Given the description of an element on the screen output the (x, y) to click on. 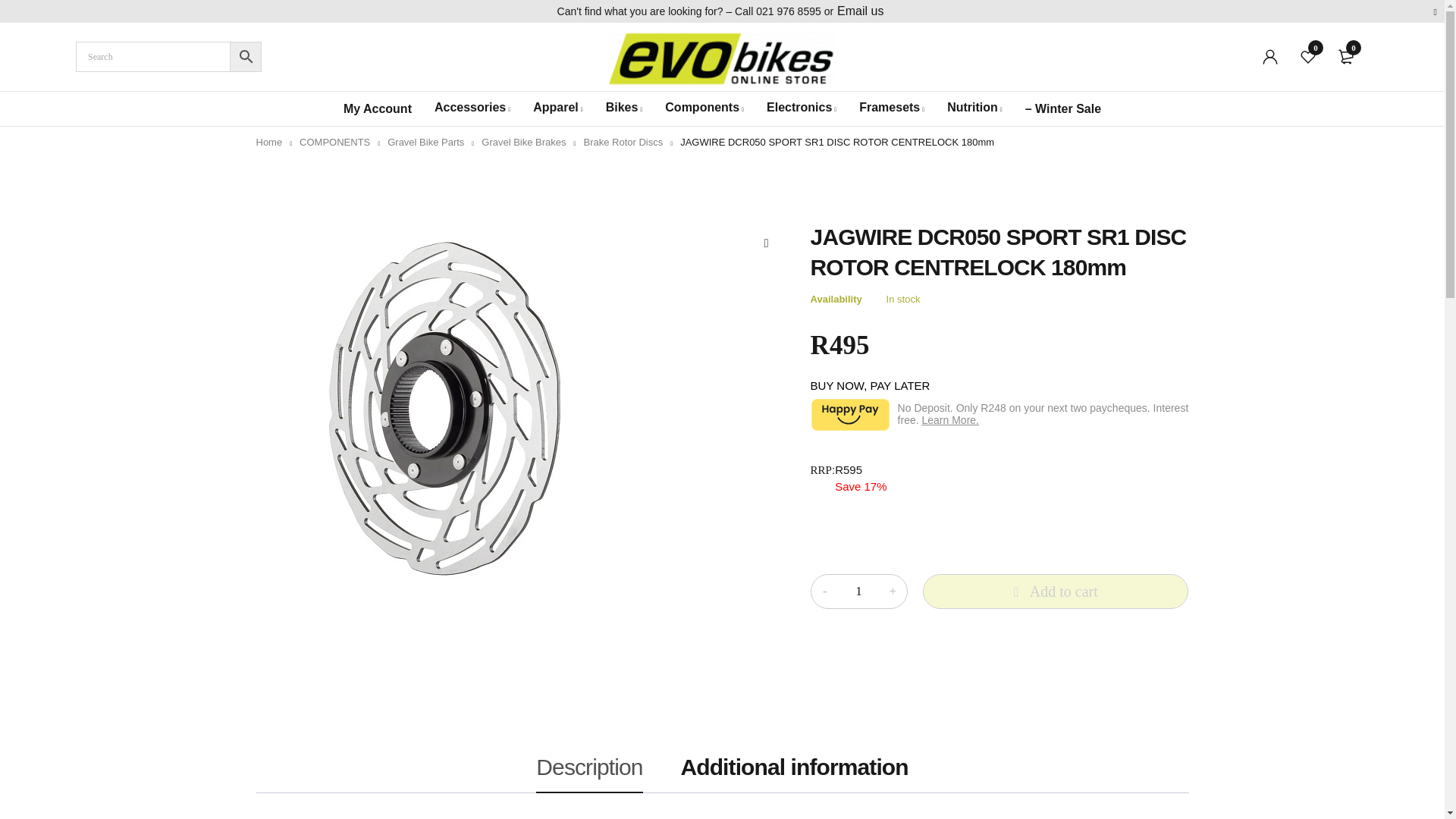
1 (858, 591)
Evo Bikes (721, 58)
